Given the description of an element on the screen output the (x, y) to click on. 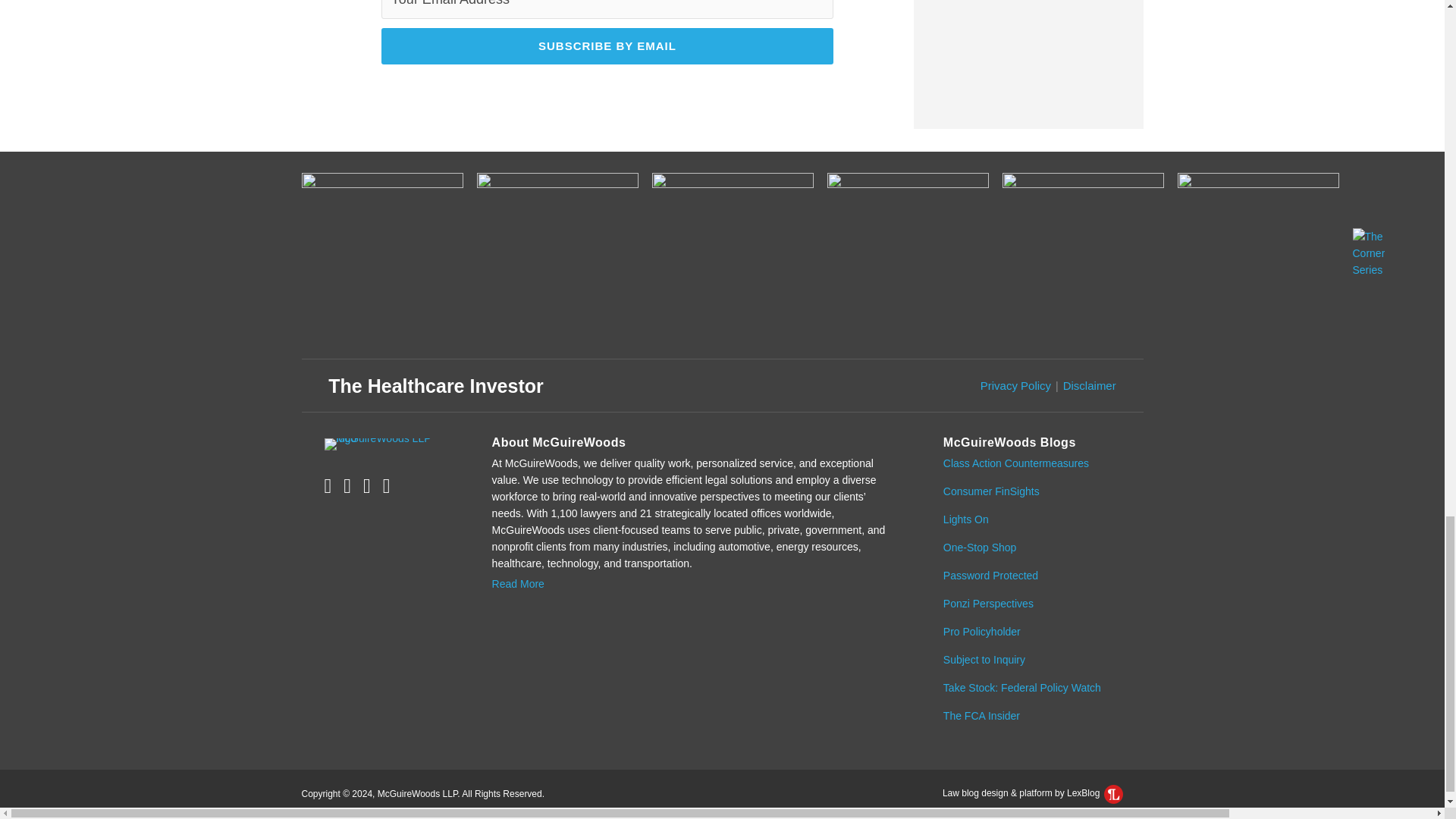
LexBlog Logo (1112, 793)
Subscribe by Email (606, 45)
Subscribe by Email (606, 45)
